Given the description of an element on the screen output the (x, y) to click on. 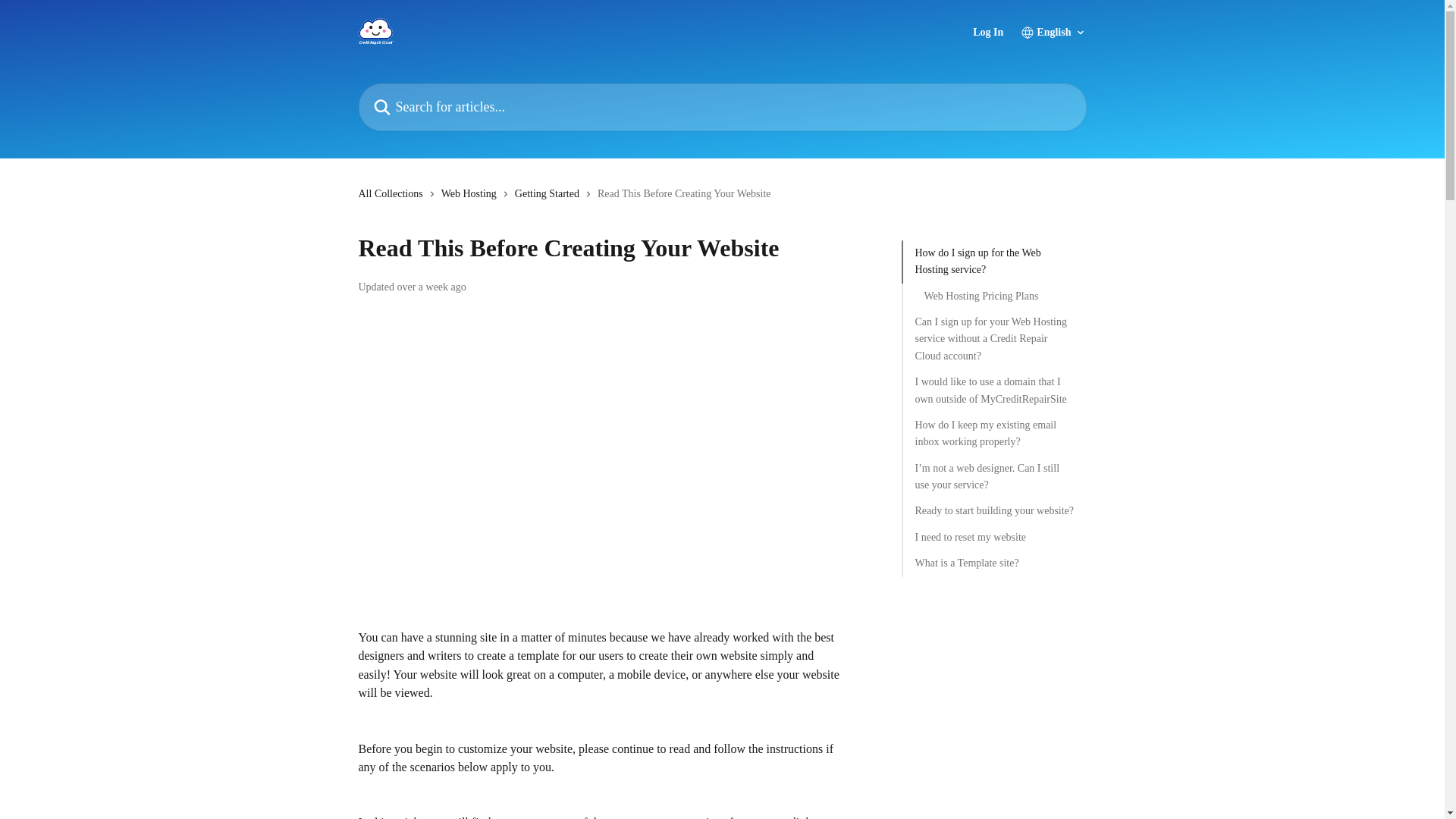
What is a Template site? (994, 563)
Web Hosting Pricing Plans (993, 296)
Getting Started (550, 193)
How do I sign up for the Web Hosting service? (994, 261)
I need to reset my website (994, 537)
Log In (987, 32)
All Collections (393, 193)
How do I keep my existing email inbox working properly? (994, 433)
